Given the description of an element on the screen output the (x, y) to click on. 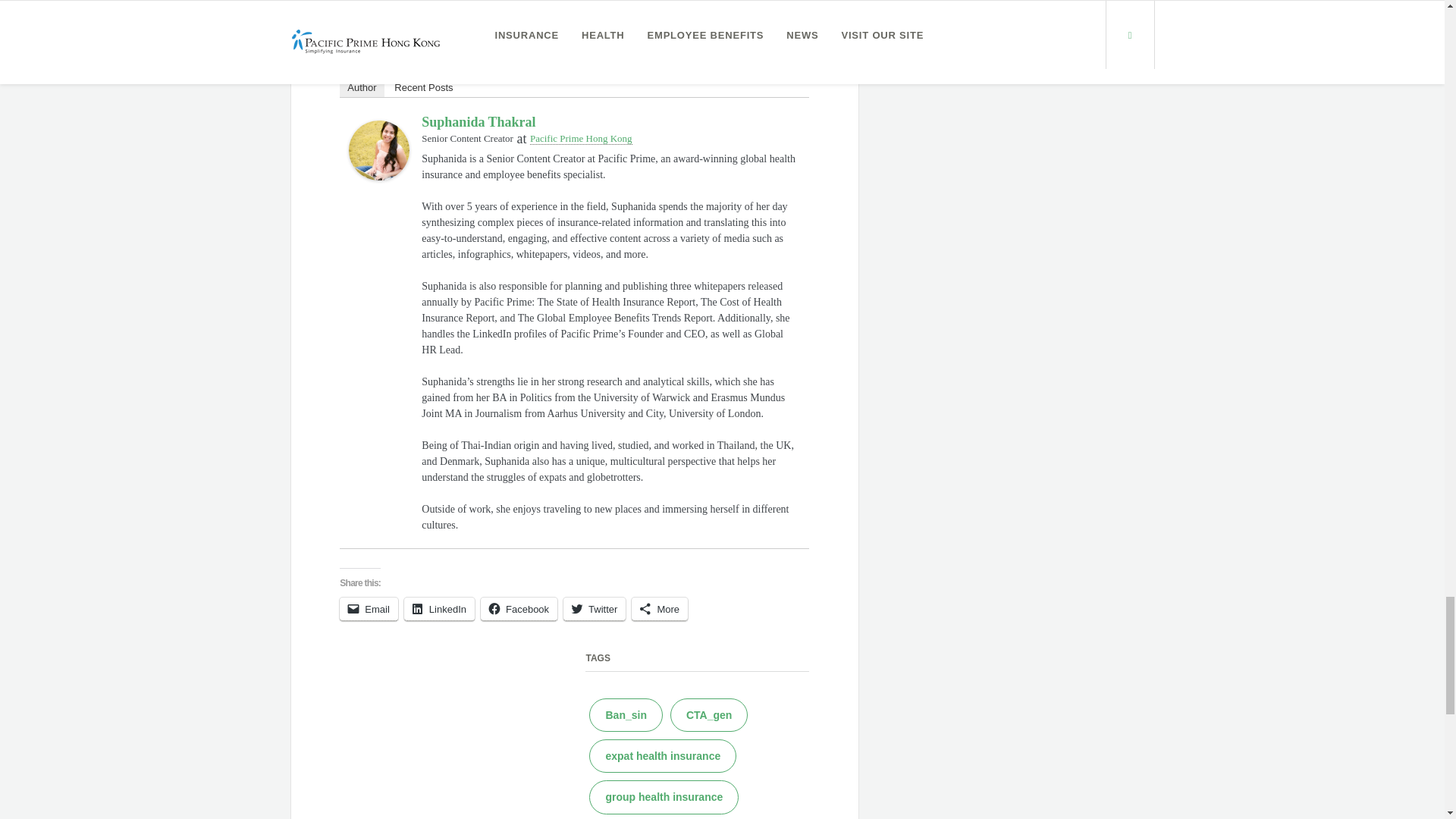
Click to email a link to a friend (368, 608)
Suphanida Thakral (379, 148)
Click to share on Twitter (594, 608)
Click to share on LinkedIn (439, 608)
Click to share on Facebook (518, 608)
